Given the description of an element on the screen output the (x, y) to click on. 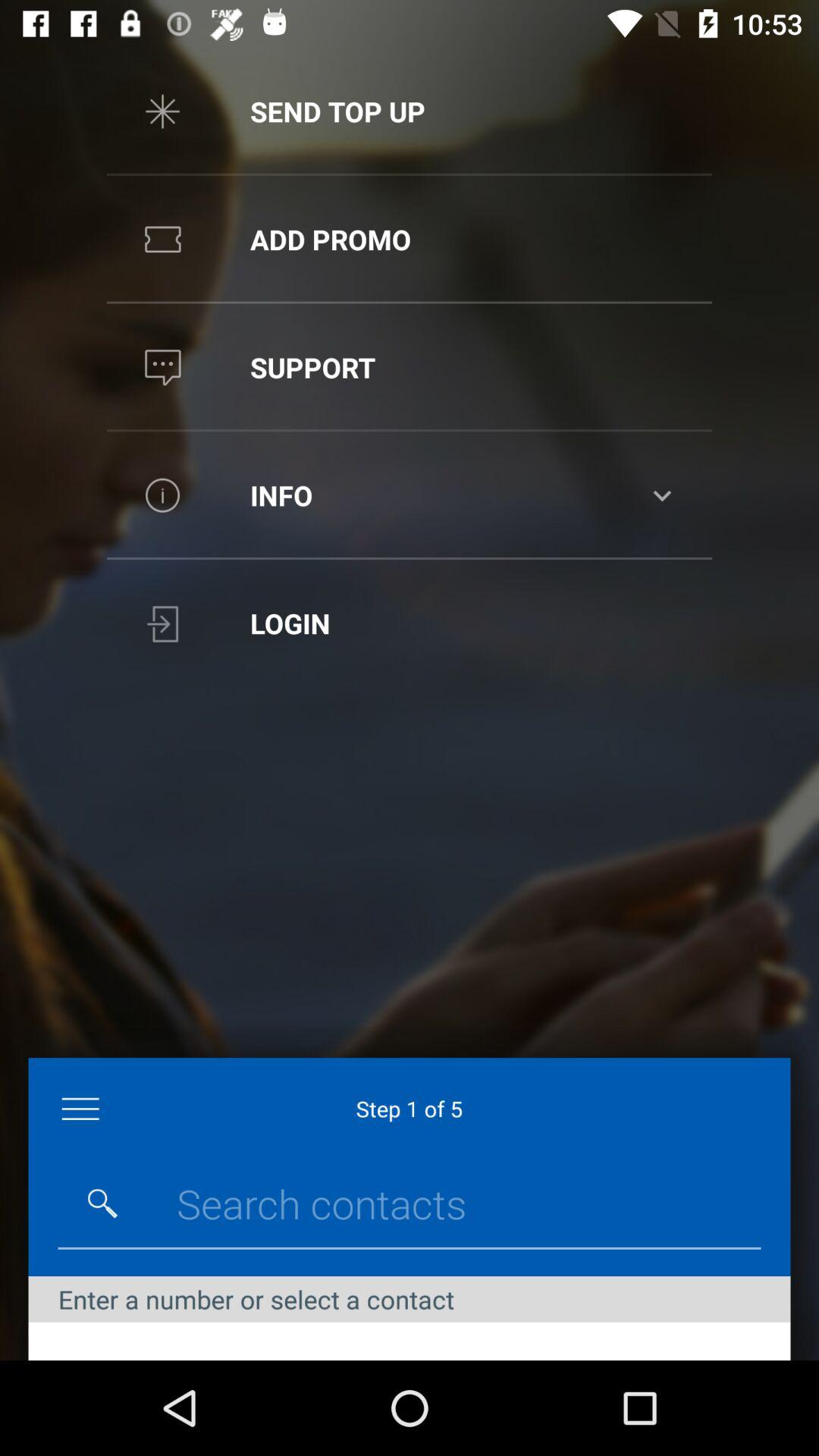
click on the login option (409, 623)
select the tab just below the text add promo (409, 367)
click on the search option down below the page (102, 1202)
